Given the description of an element on the screen output the (x, y) to click on. 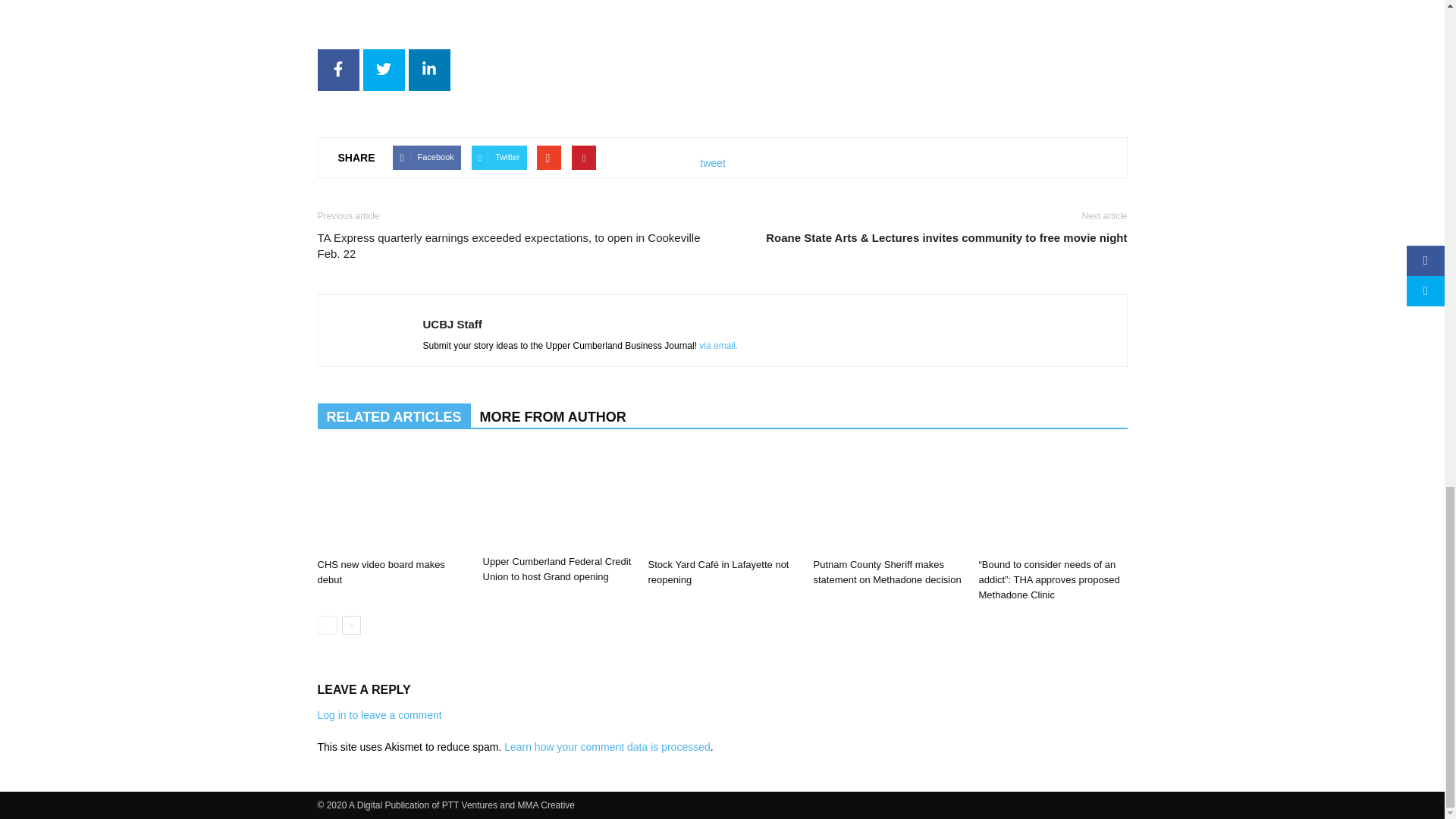
CHS new video board makes debut (391, 500)
Upper Cumberland Federal Credit Union to host Grand opening (555, 498)
CHS new video board makes debut (380, 571)
